Given the description of an element on the screen output the (x, y) to click on. 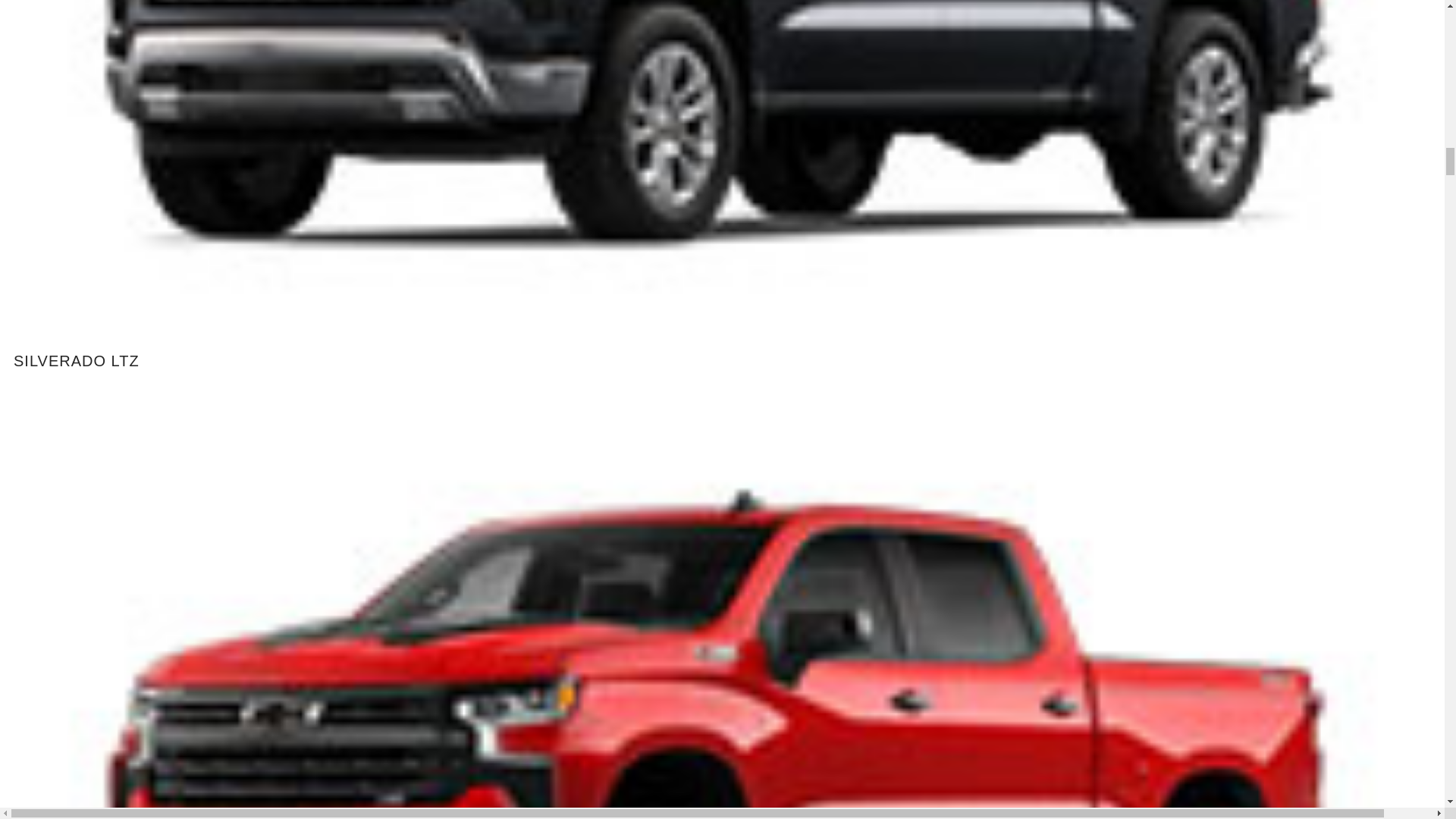
2024 COMMERCIAL VEHICLES (155, 14)
